Given the description of an element on the screen output the (x, y) to click on. 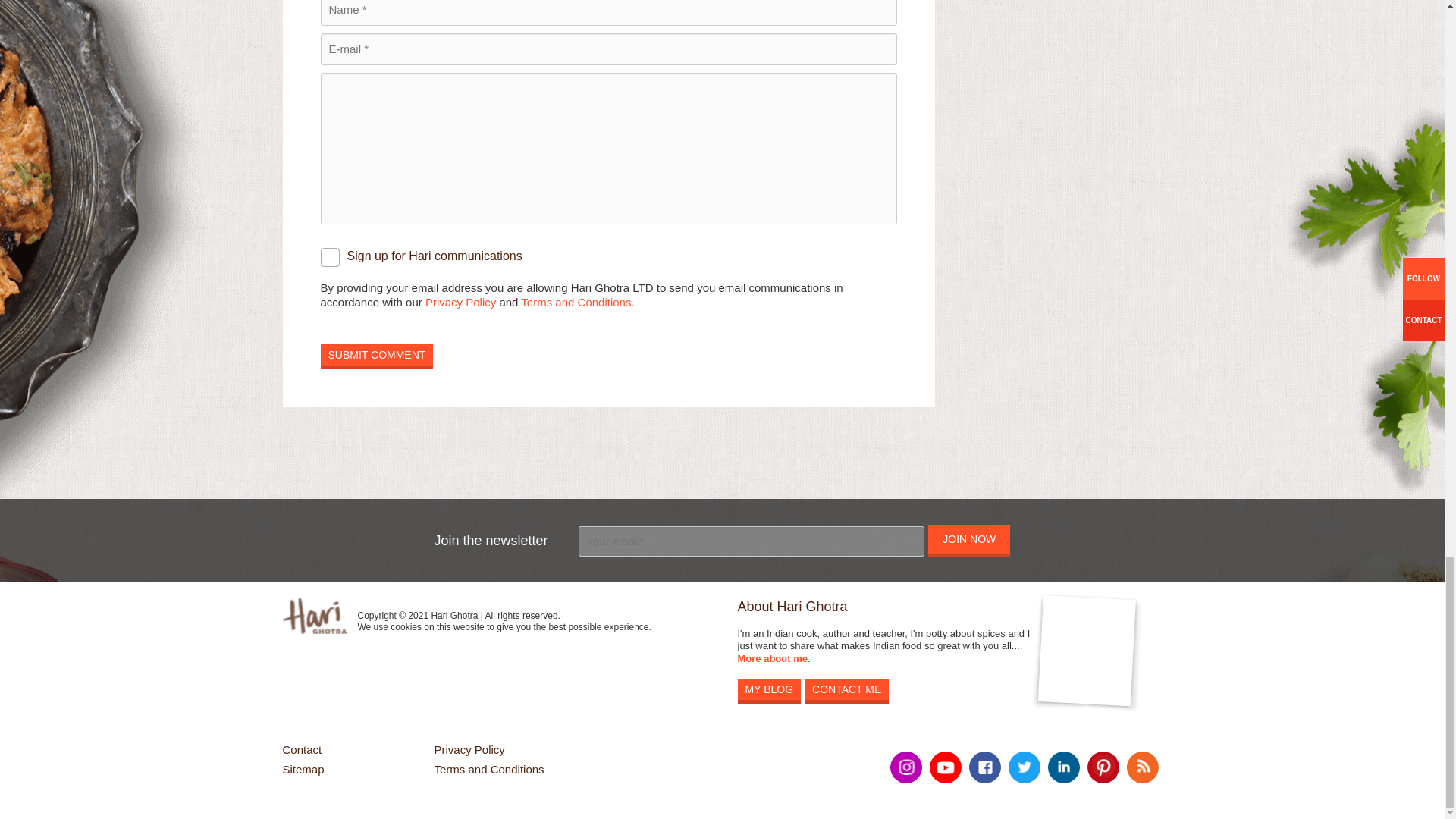
Subscribe to my feed (1142, 766)
Foodies100 Index of UK Food Blogs (492, 653)
Foodies100 (492, 684)
Hari Ghotra (314, 615)
1 (329, 257)
Submit comment (376, 354)
